Given the description of an element on the screen output the (x, y) to click on. 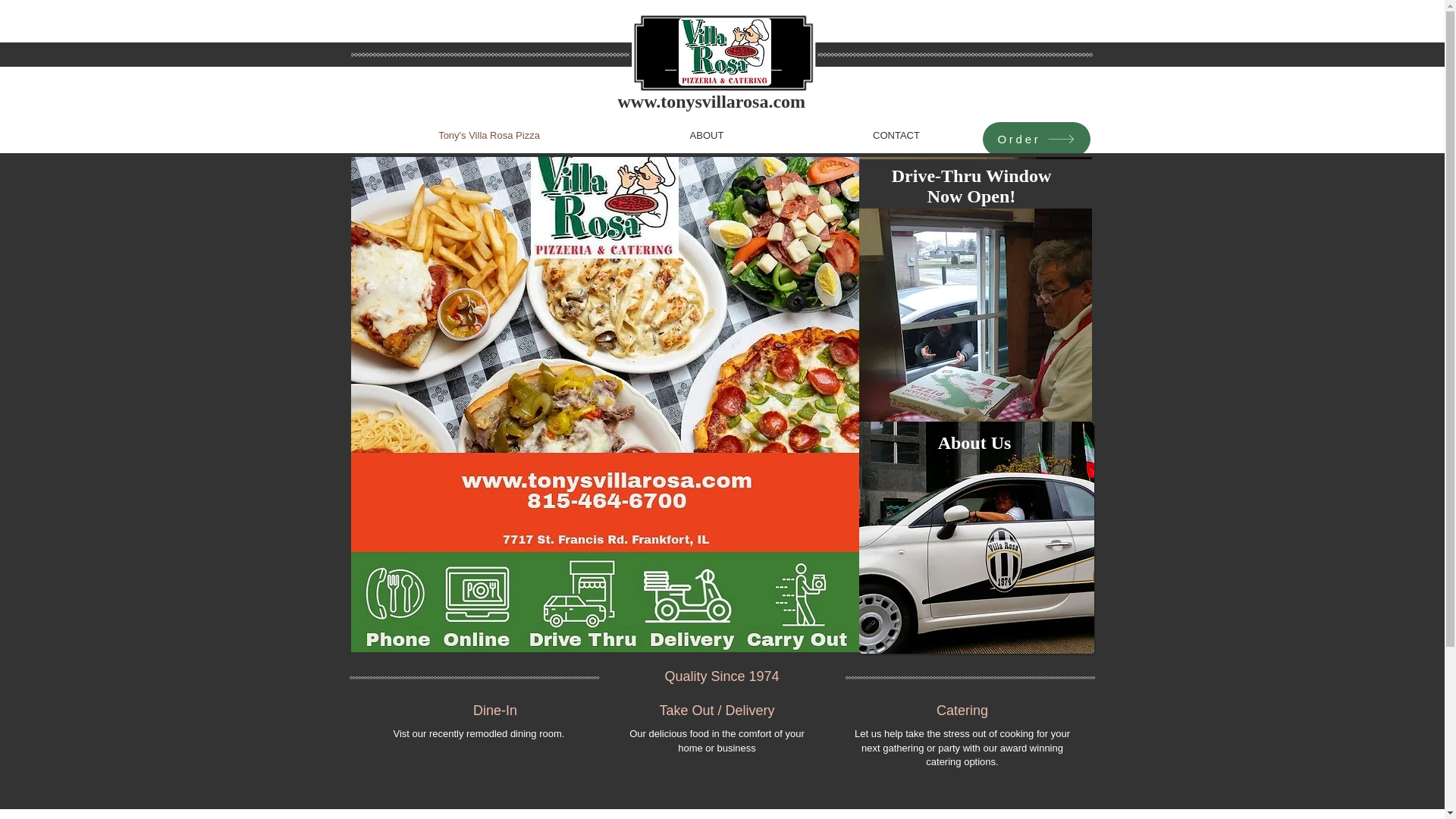
Tony's Villa Rosa Pizza (489, 135)
Order (1036, 139)
Fresh hot delivery (976, 537)
CONTACT (896, 135)
ABOUT (705, 135)
www.tonysvillarosa.com (711, 101)
